Given the description of an element on the screen output the (x, y) to click on. 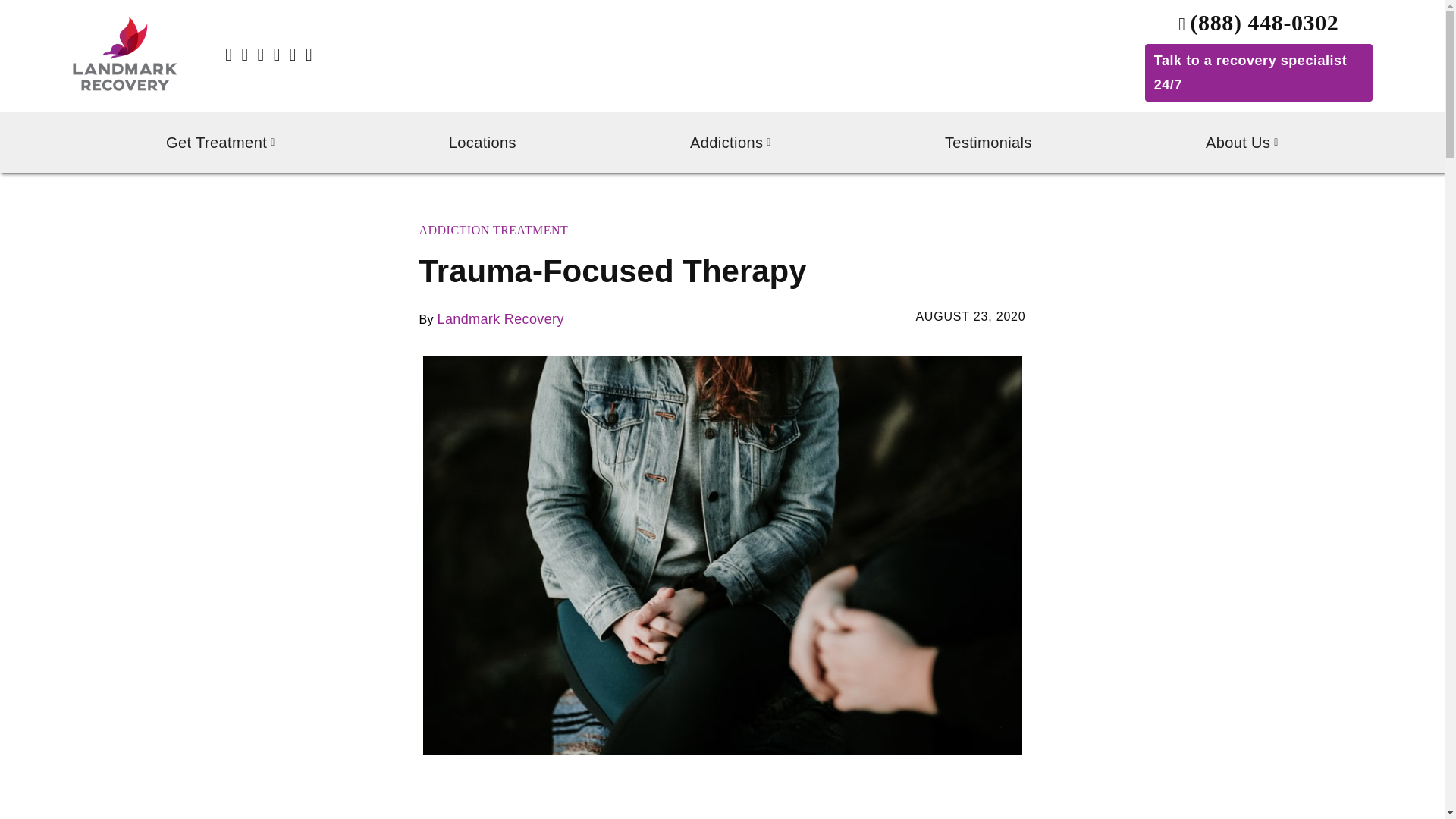
About Us (1241, 142)
Testimonials (988, 142)
Locations (482, 142)
Addictions (730, 142)
Landmark Recovery (501, 318)
Get Treatment (220, 142)
